Given the description of an element on the screen output the (x, y) to click on. 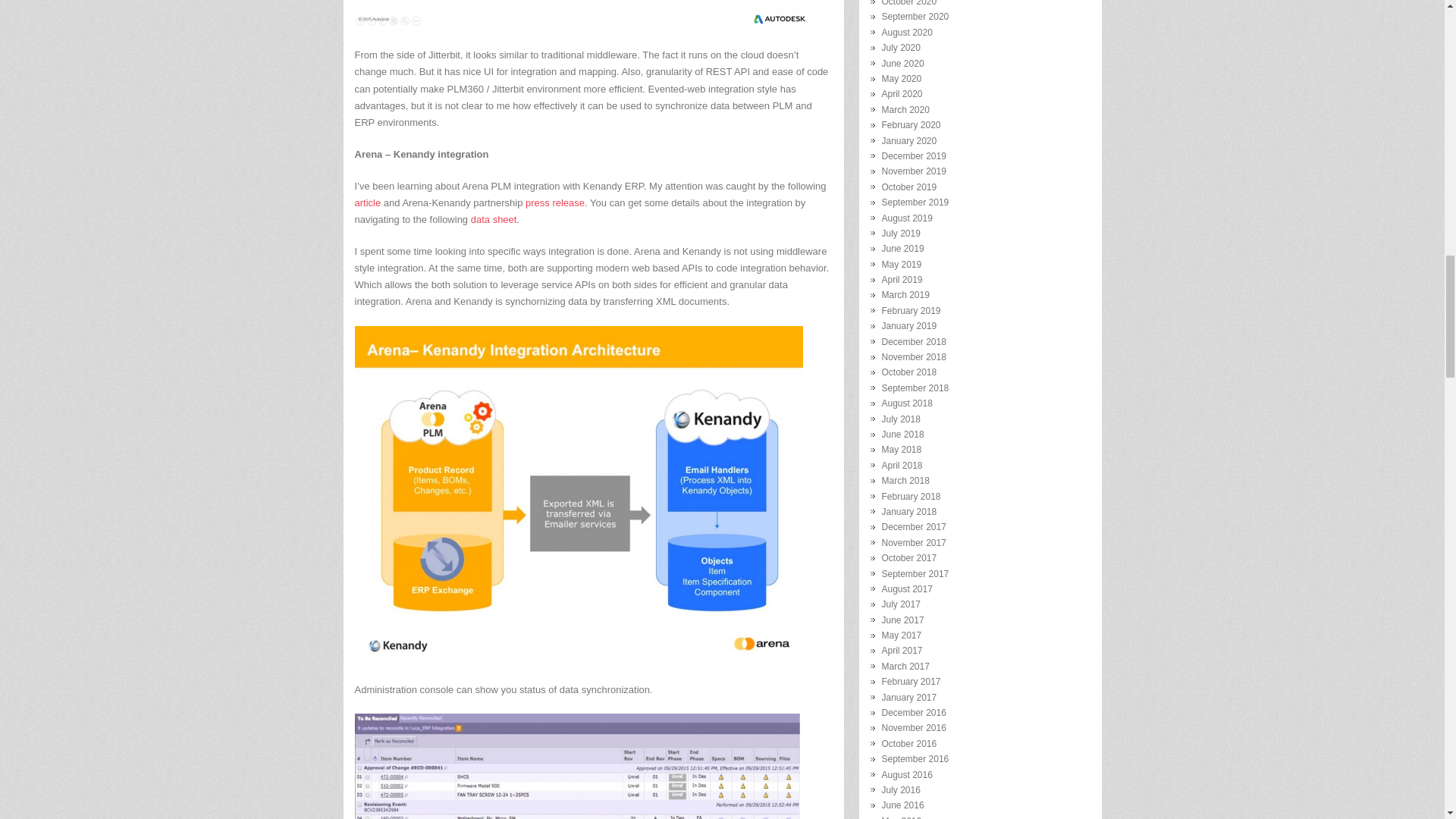
press release (555, 202)
article (368, 202)
data sheet (493, 219)
